Given the description of an element on the screen output the (x, y) to click on. 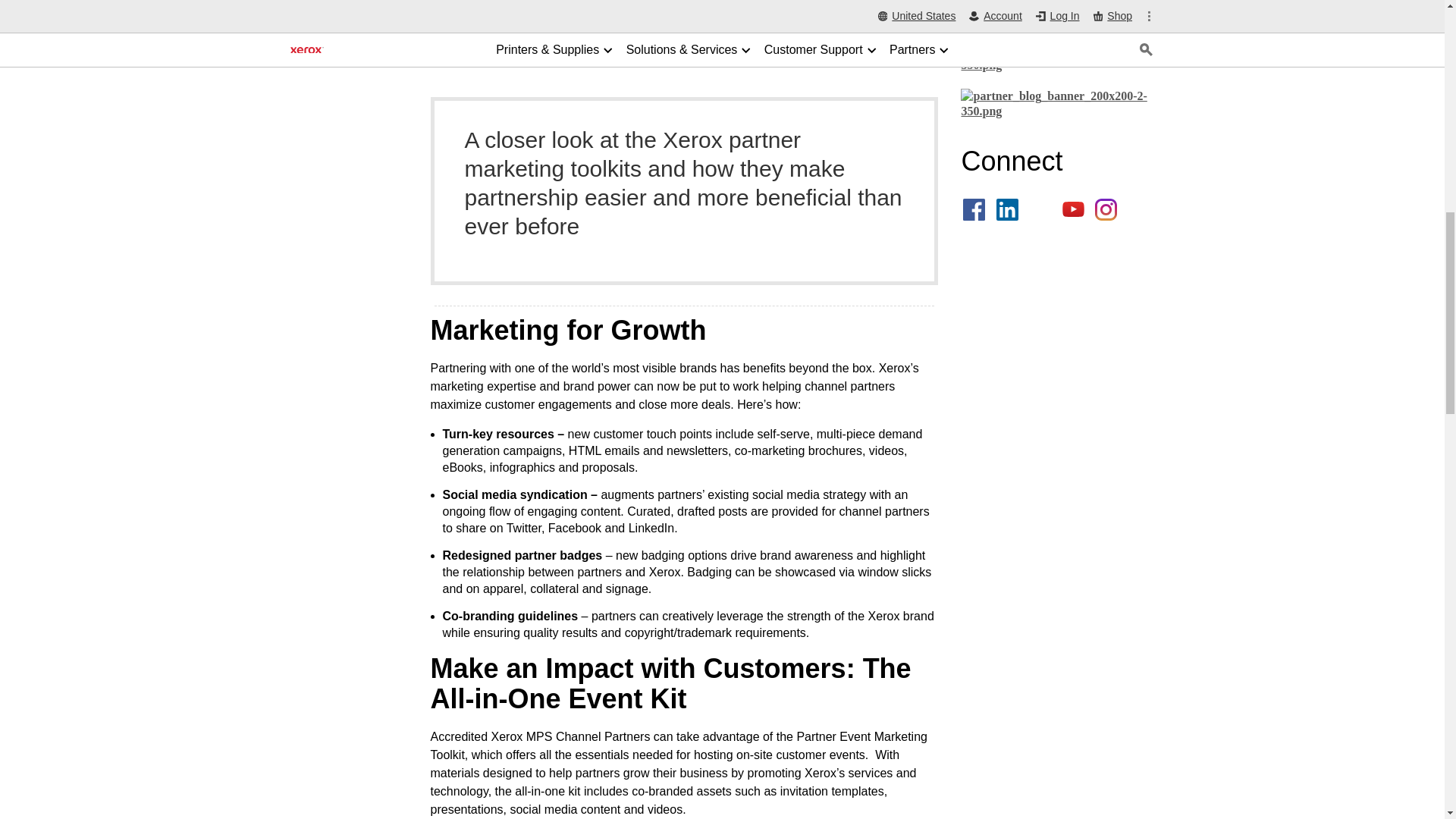
facebook (973, 209)
youtube (1073, 209)
linkedin (1006, 209)
instagram (1105, 209)
twitter (1040, 209)
